Given the description of an element on the screen output the (x, y) to click on. 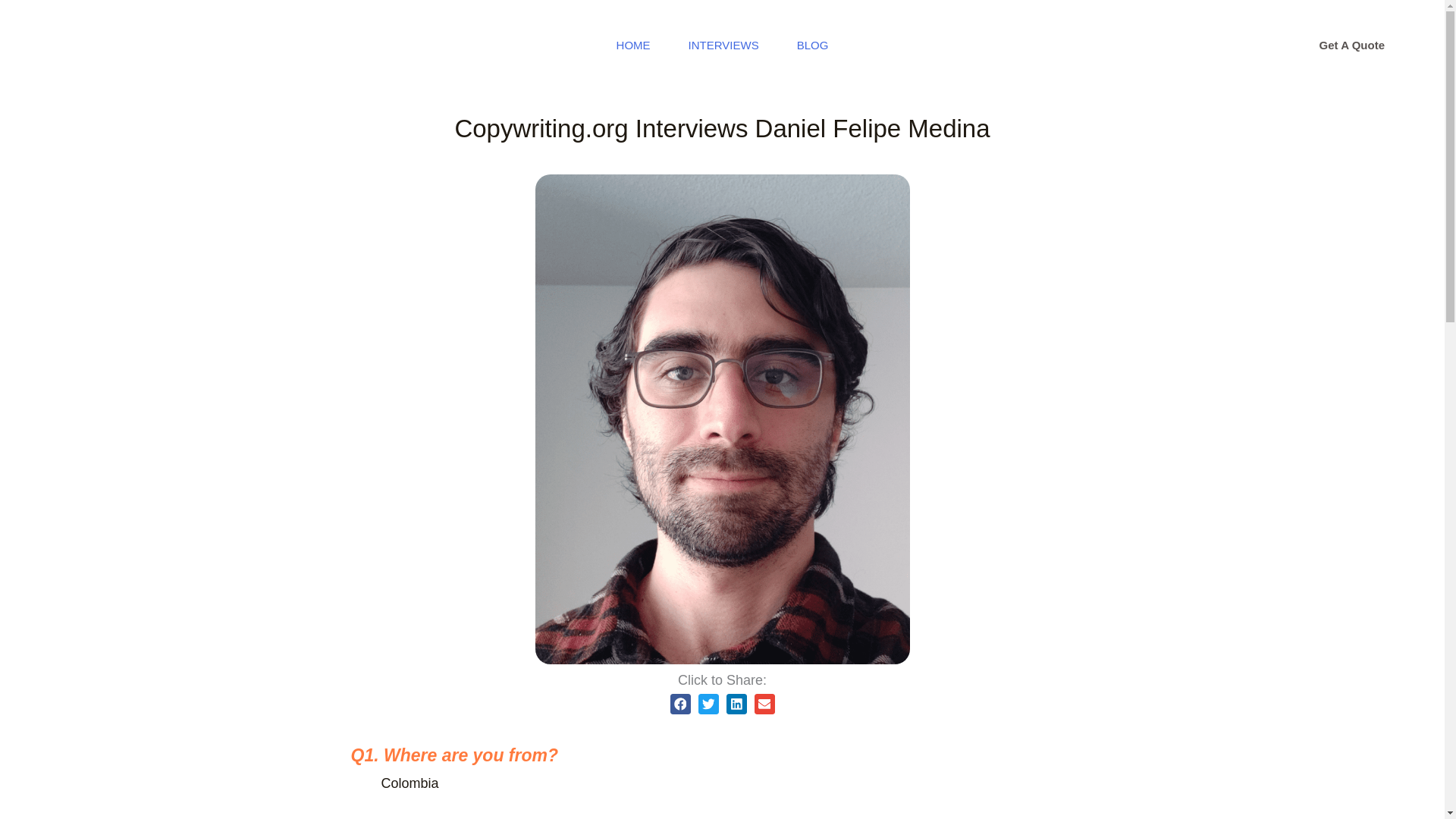
INTERVIEWS (723, 45)
Get A Quote (1352, 45)
